Given the description of an element on the screen output the (x, y) to click on. 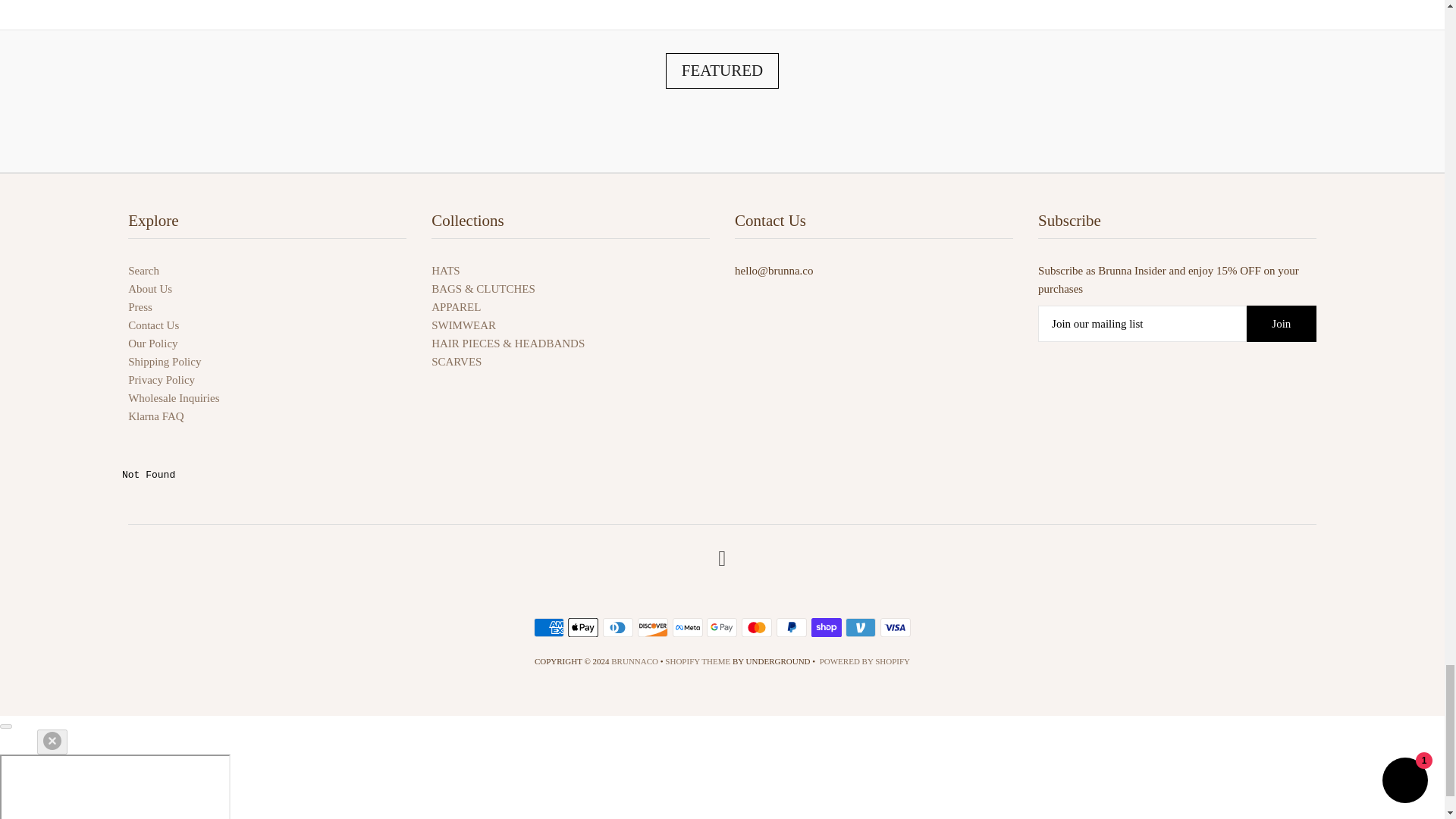
Diners Club (617, 627)
HATS (445, 270)
PayPal (791, 627)
Mastercard (756, 627)
Venmo (860, 627)
Apple Pay (582, 627)
About Us (149, 288)
Privacy Policy (161, 379)
Discover (652, 627)
Join (1281, 323)
Wholesale Inquiries (173, 398)
American Express (549, 627)
Search (143, 270)
Shipping Policy (164, 361)
Contact Us (153, 325)
